Given the description of an element on the screen output the (x, y) to click on. 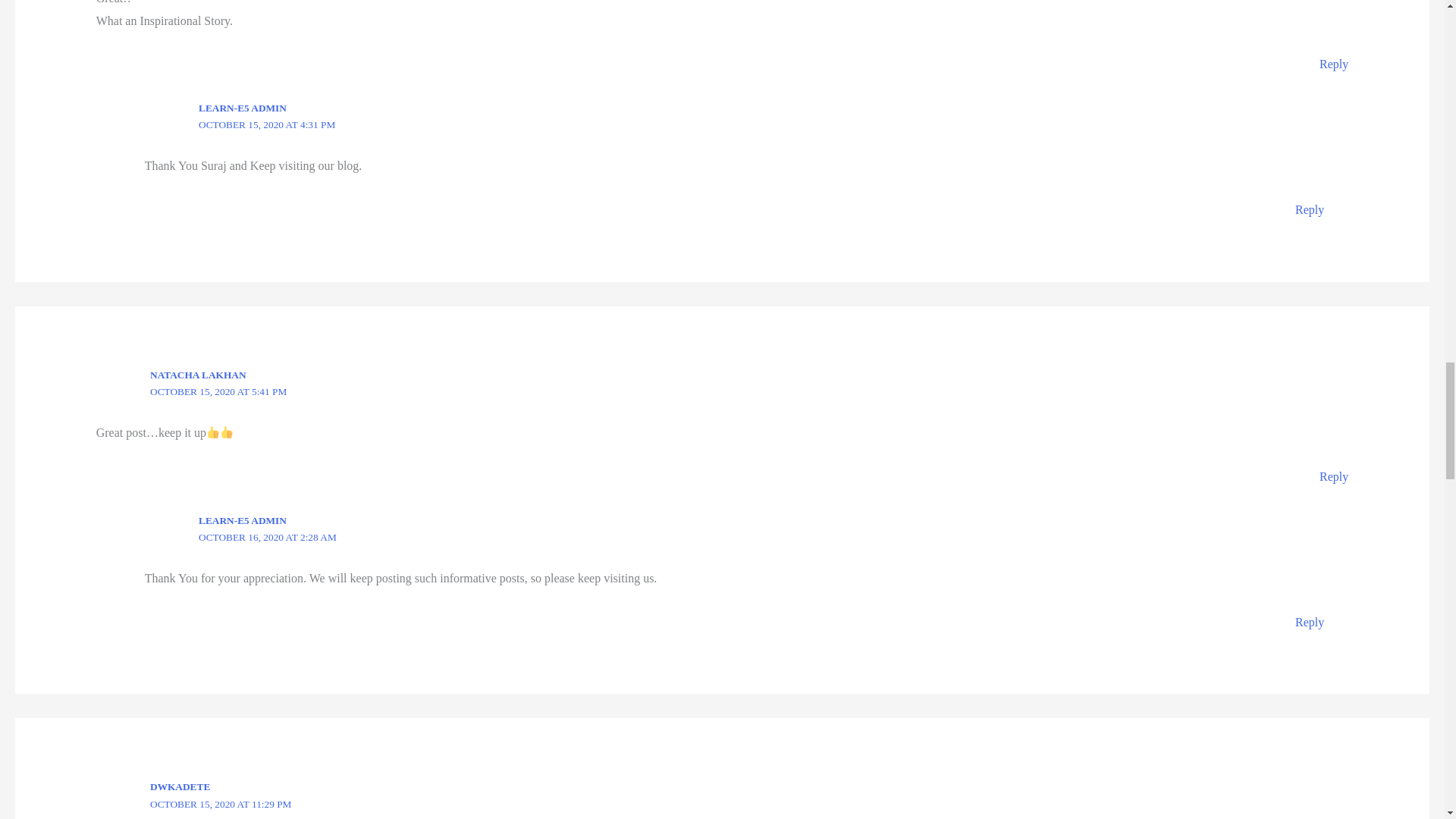
Reply (1309, 209)
DWKADETE (179, 786)
Reply (1333, 63)
OCTOBER 15, 2020 AT 4:31 PM (266, 124)
Reply (1309, 621)
Reply (1333, 476)
OCTOBER 15, 2020 AT 11:29 PM (220, 803)
NATACHA LAKHAN (197, 374)
LEARN-E5 ADMIN (242, 520)
OCTOBER 15, 2020 AT 5:41 PM (217, 391)
OCTOBER 16, 2020 AT 2:28 AM (267, 536)
LEARN-E5 ADMIN (242, 107)
